Given the description of an element on the screen output the (x, y) to click on. 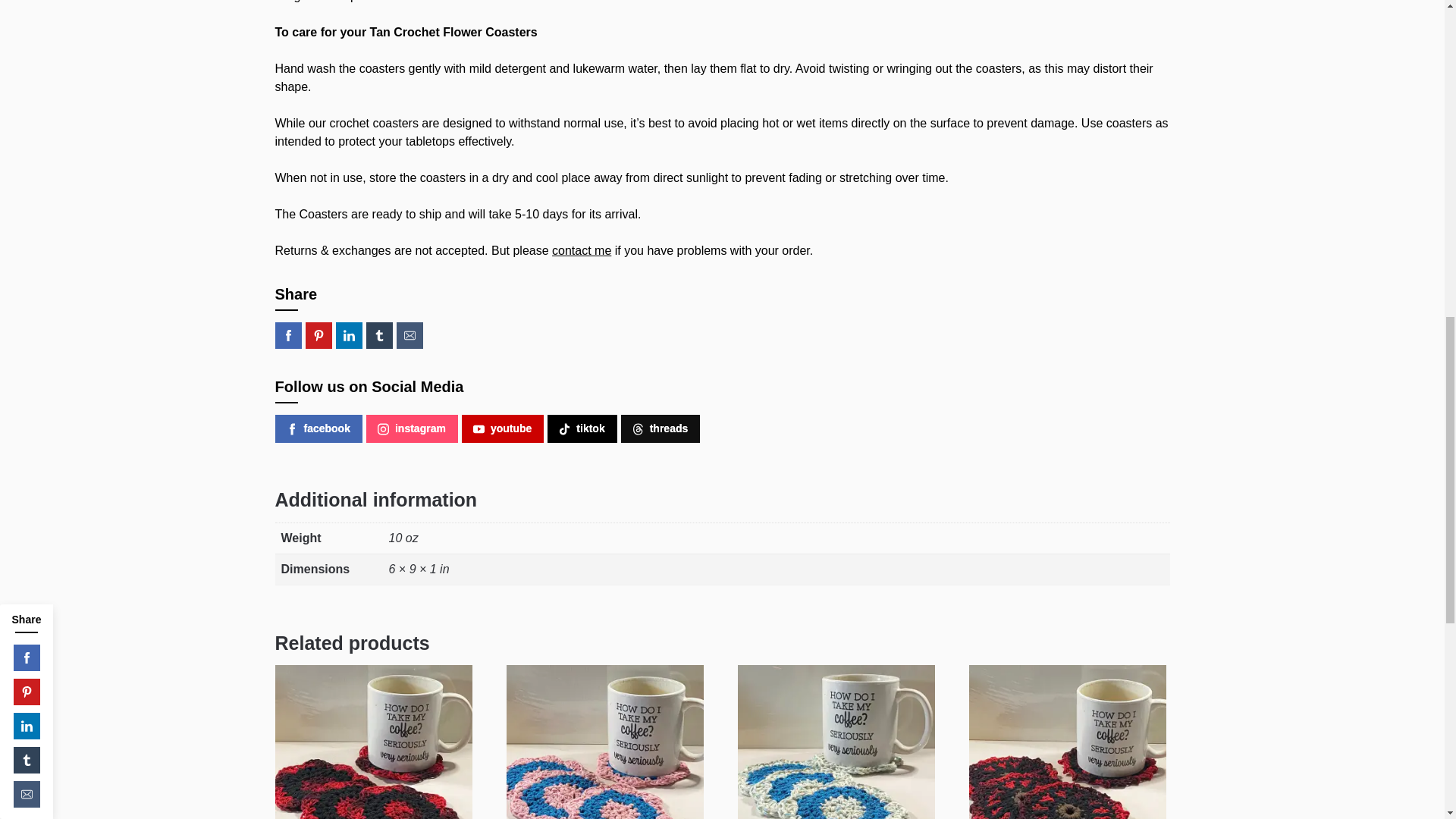
facebook (318, 428)
youtube (502, 428)
contact me (581, 250)
tiktok (581, 428)
threads (660, 428)
instagram (412, 428)
